Given the description of an element on the screen output the (x, y) to click on. 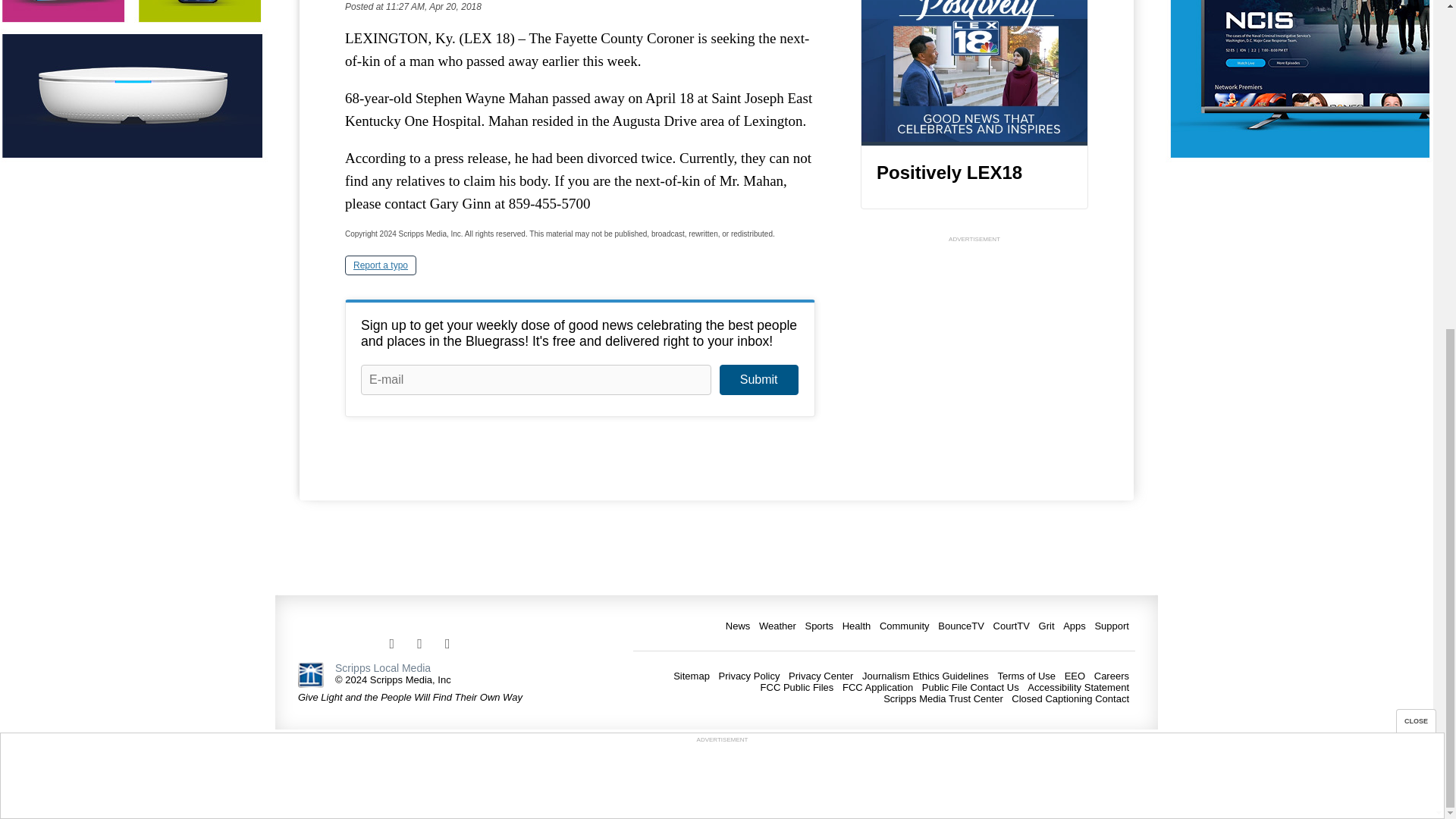
3rd party ad content (721, 237)
Submit (758, 379)
3rd party ad content (973, 340)
